Given the description of an element on the screen output the (x, y) to click on. 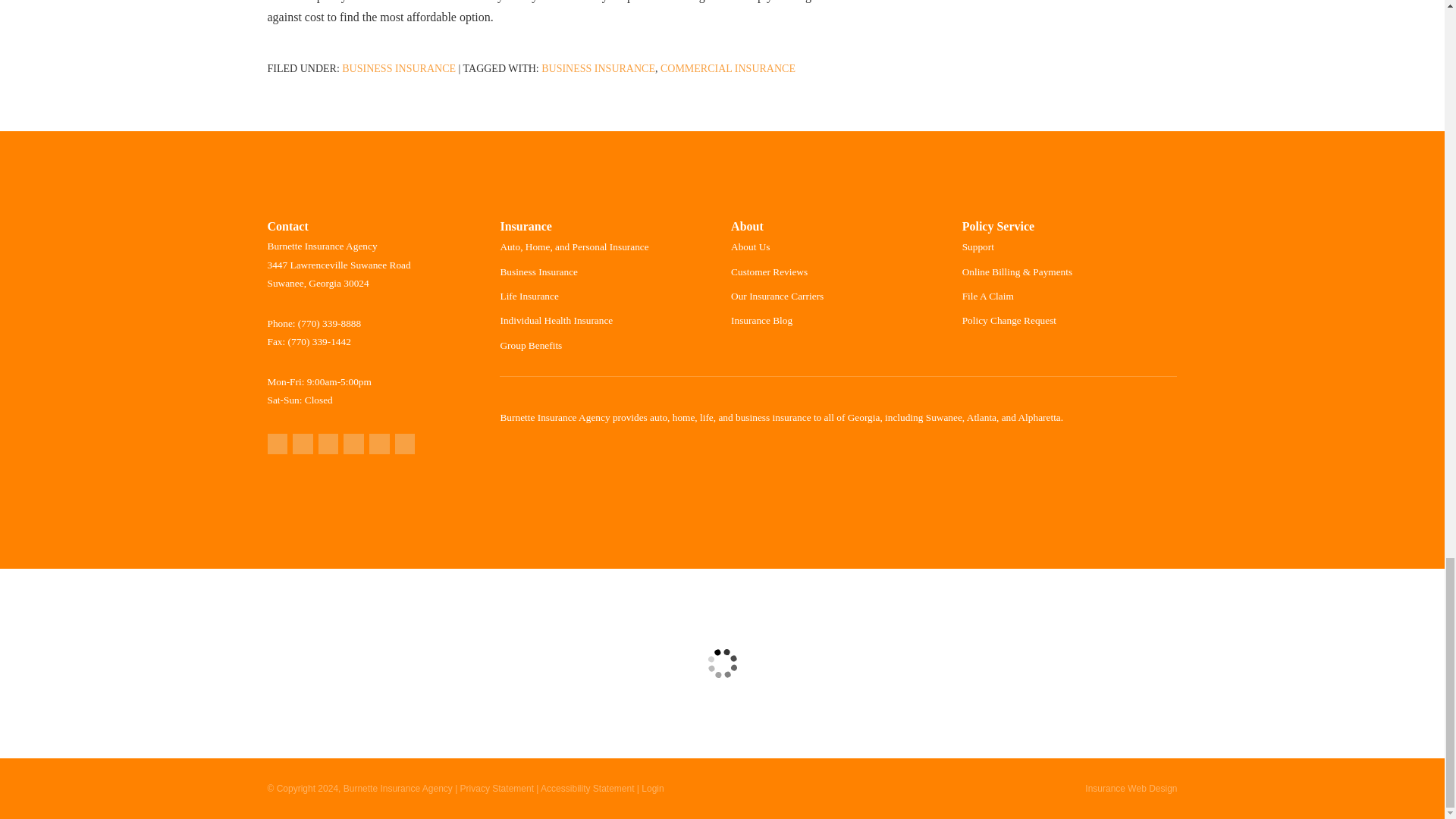
Yelp (302, 444)
Business Insurance (598, 68)
Facebook (328, 444)
Google Maps (276, 444)
X (353, 444)
LinkedIn (379, 444)
Commercial Insurance (727, 68)
Business Insurance (398, 68)
YouTube (404, 444)
